Given the description of an element on the screen output the (x, y) to click on. 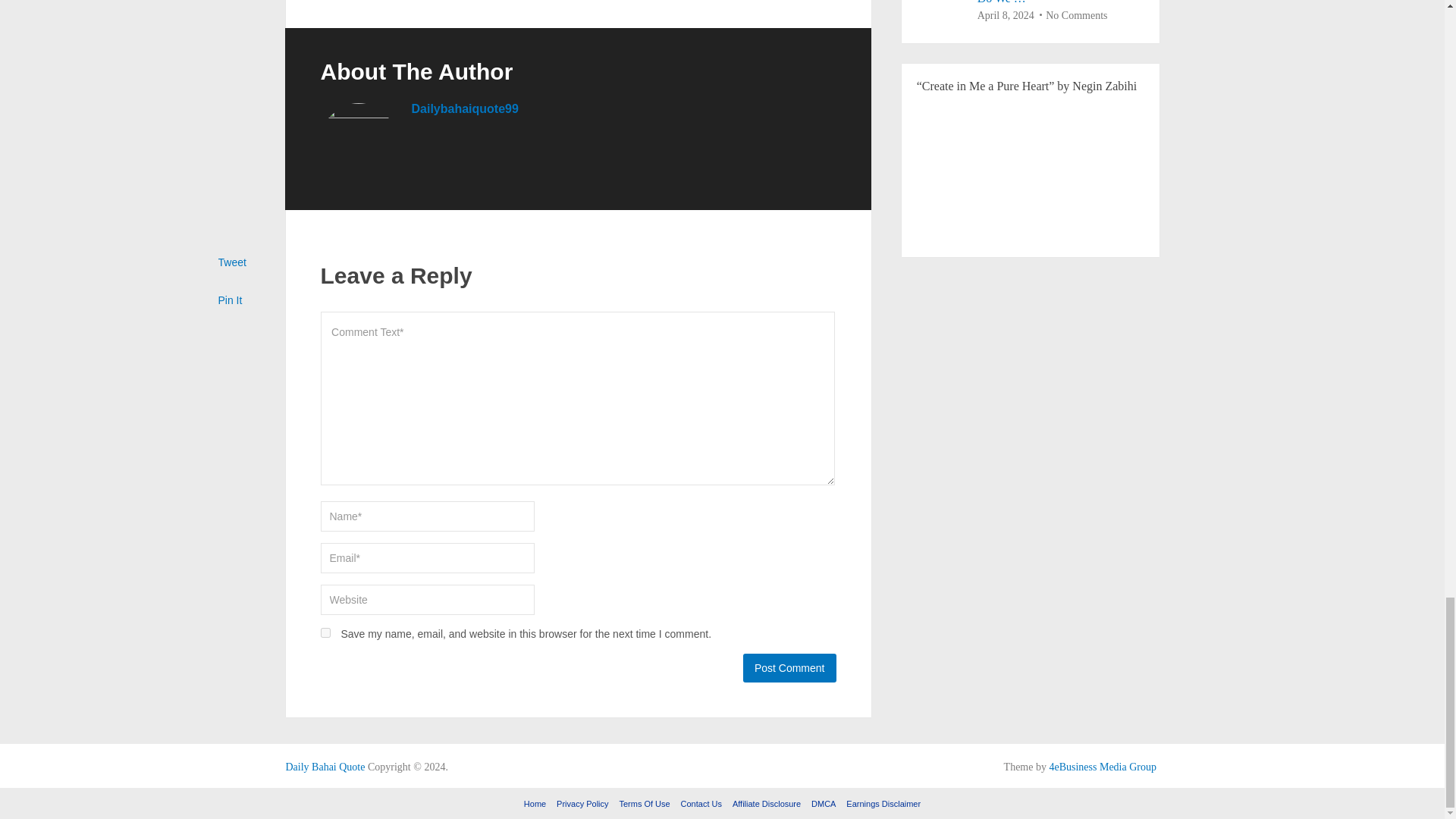
Post Comment (788, 667)
Dailybahaiquote99 (464, 108)
yes (325, 633)
